Given the description of an element on the screen output the (x, y) to click on. 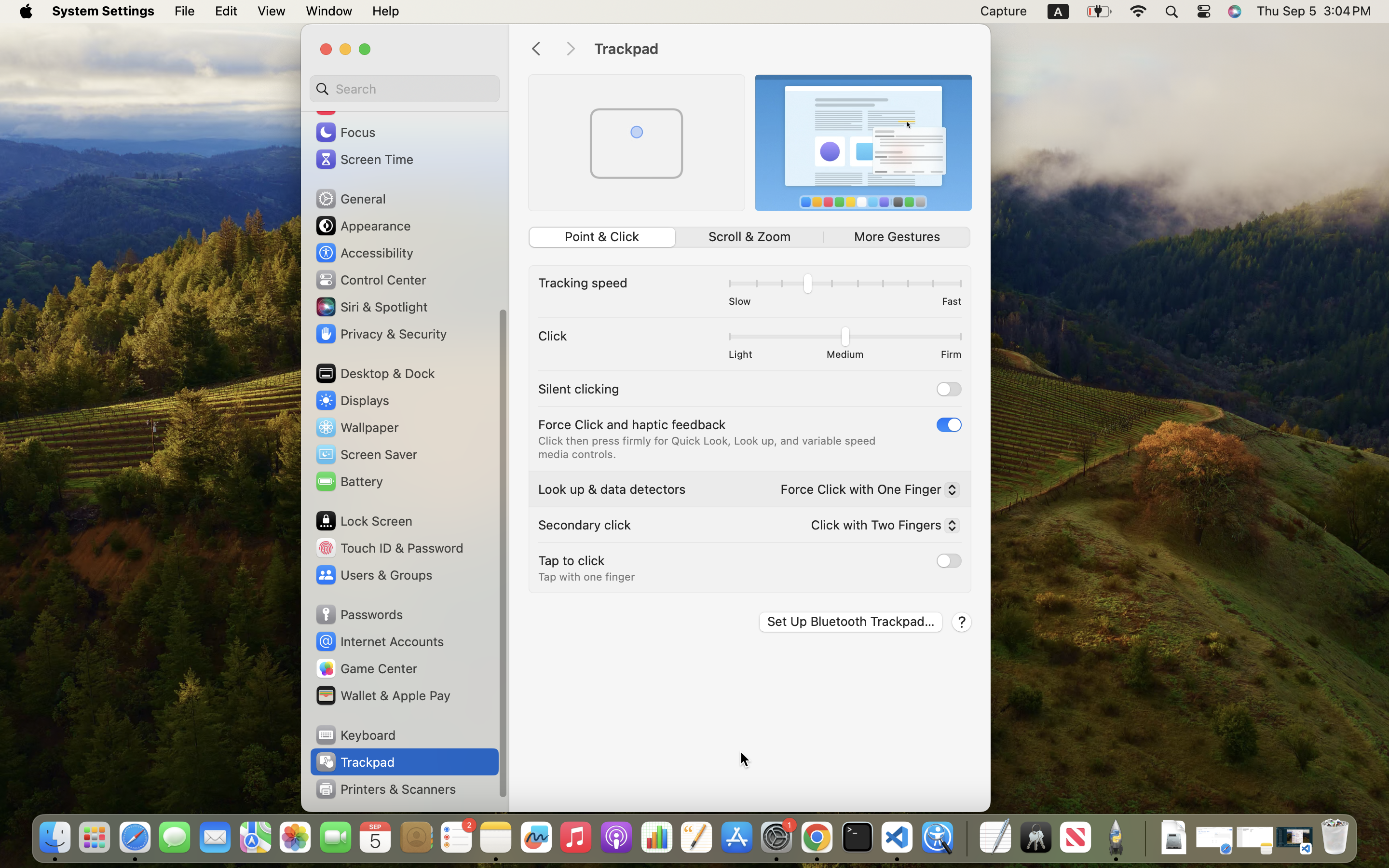
Passwords Element type: AXStaticText (358, 613)
Secondary click Element type: AXStaticText (584, 524)
Printers & Scanners Element type: AXStaticText (385, 788)
